Given the description of an element on the screen output the (x, y) to click on. 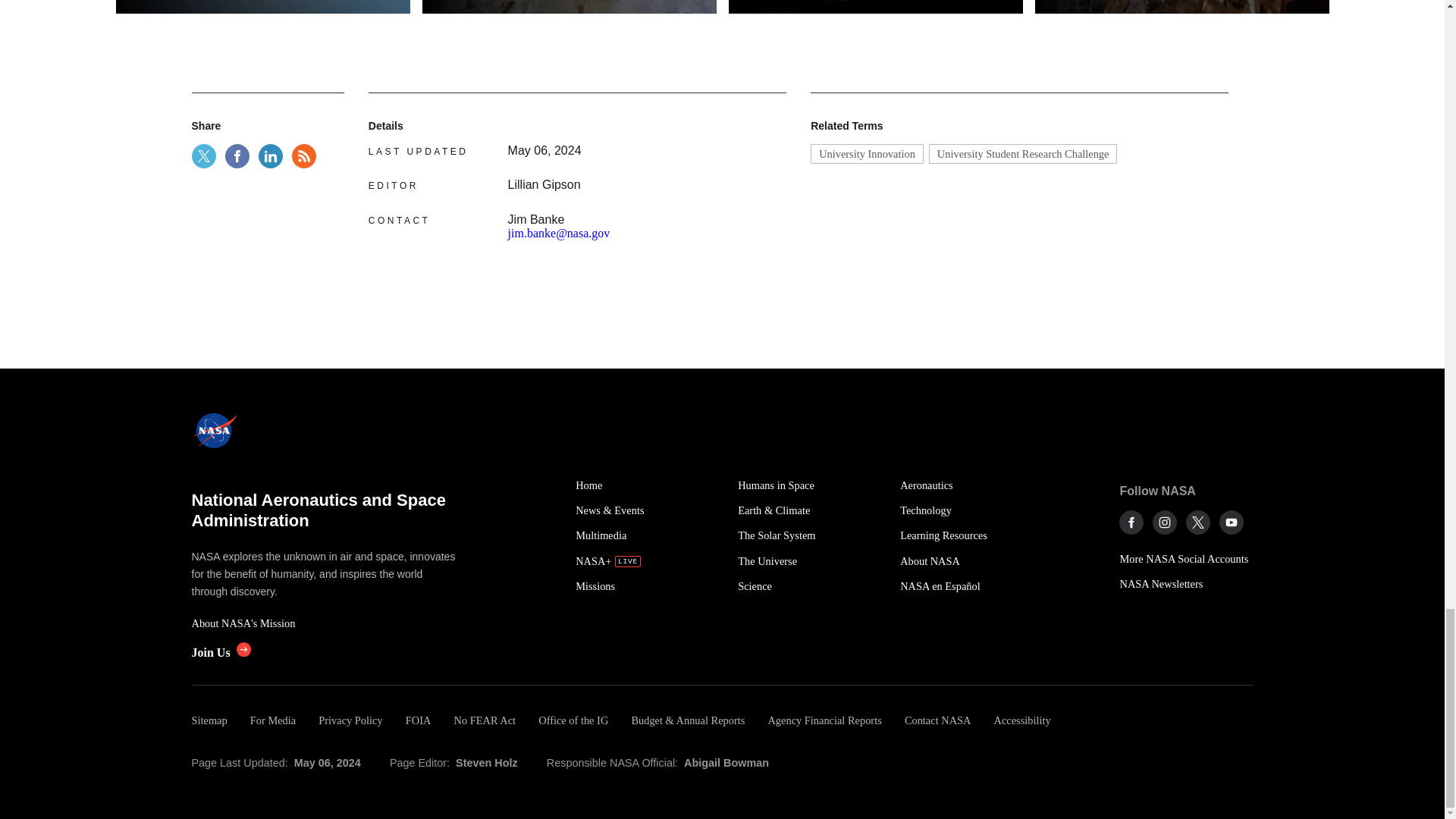
NASA on YouTube (1231, 522)
NASA on Facebook (1130, 522)
NASA on X (1197, 522)
NASA on Instagram (1164, 522)
